Given the description of an element on the screen output the (x, y) to click on. 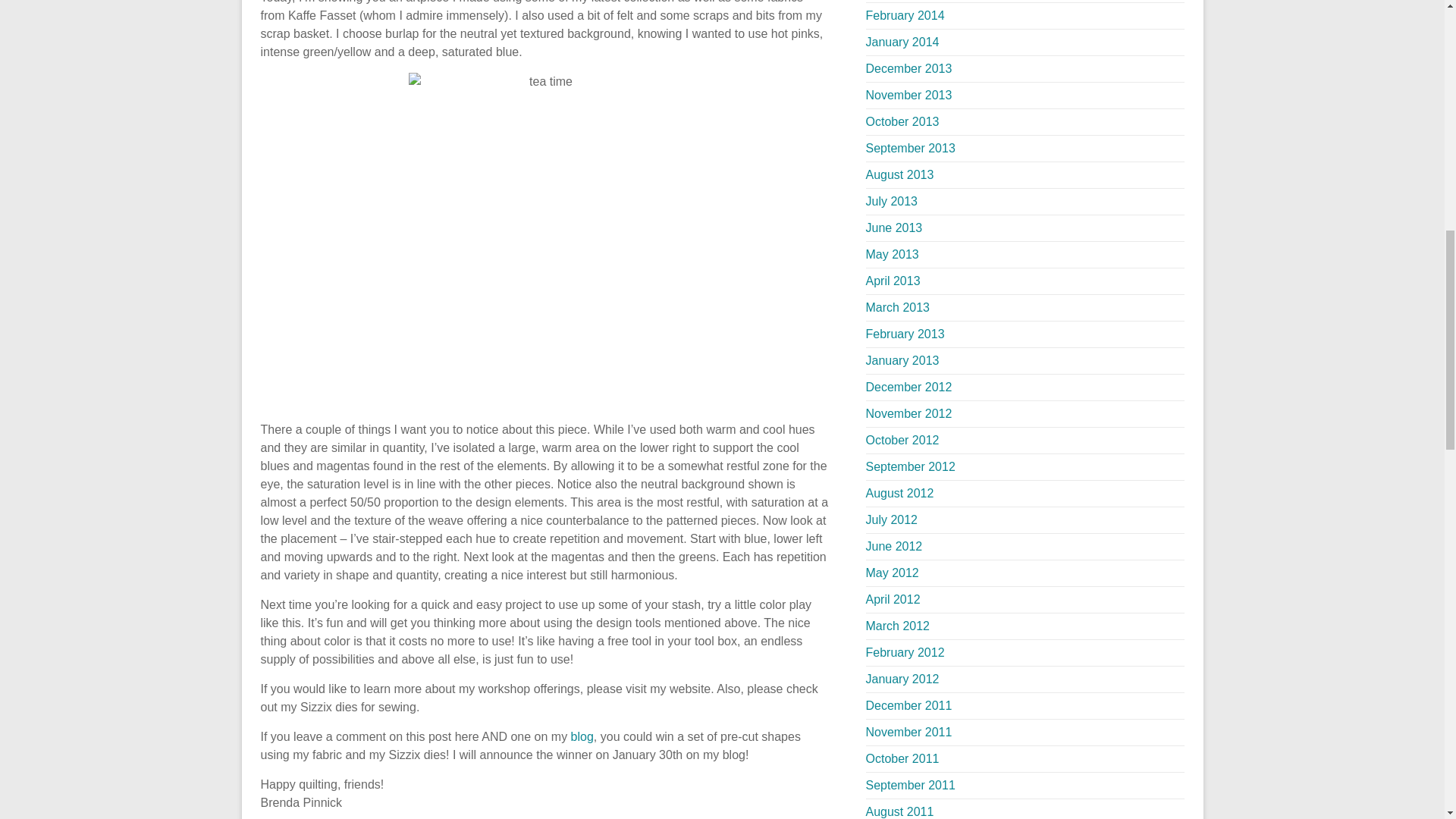
blog (582, 736)
